Given the description of an element on the screen output the (x, y) to click on. 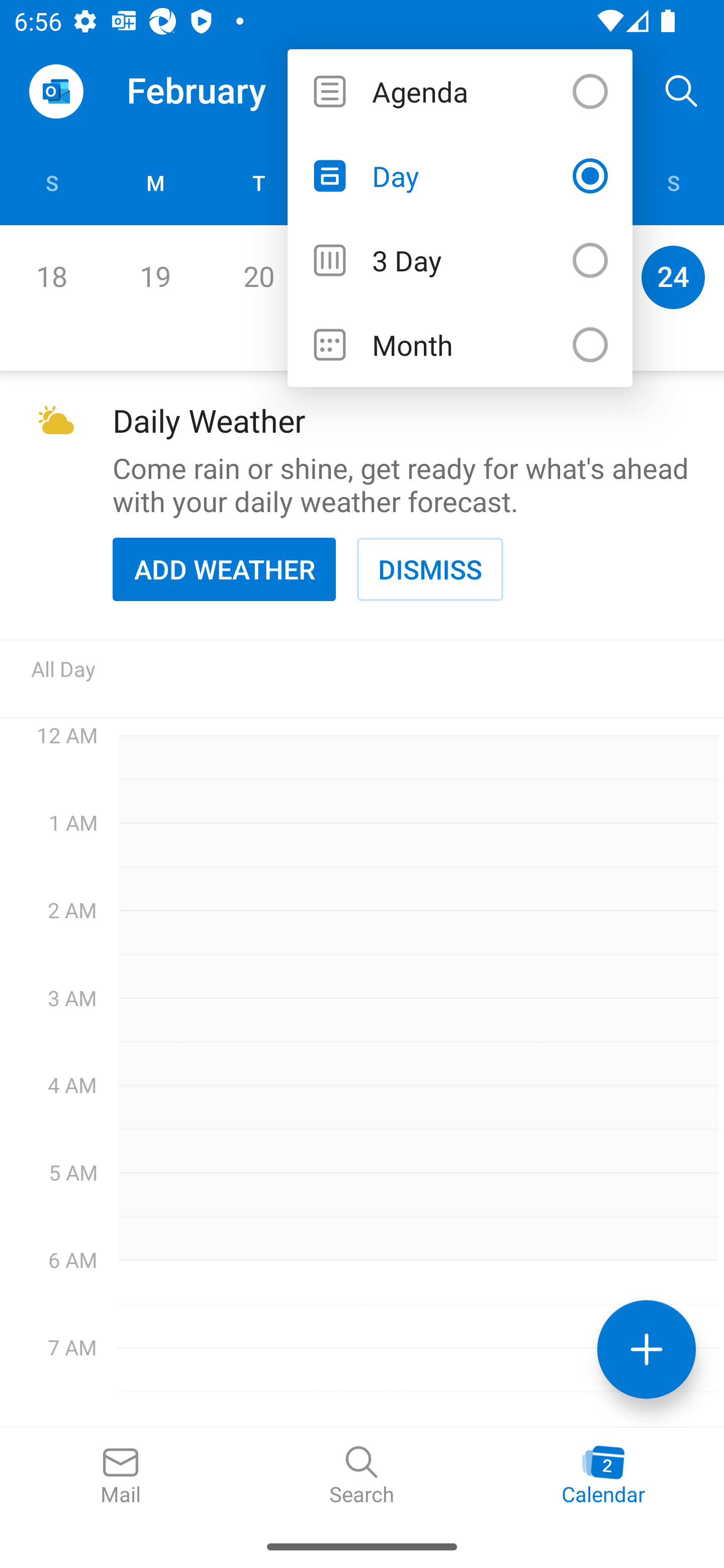
Agenda (459, 90)
Day (459, 175)
3 Day (459, 259)
Month (459, 344)
